Given the description of an element on the screen output the (x, y) to click on. 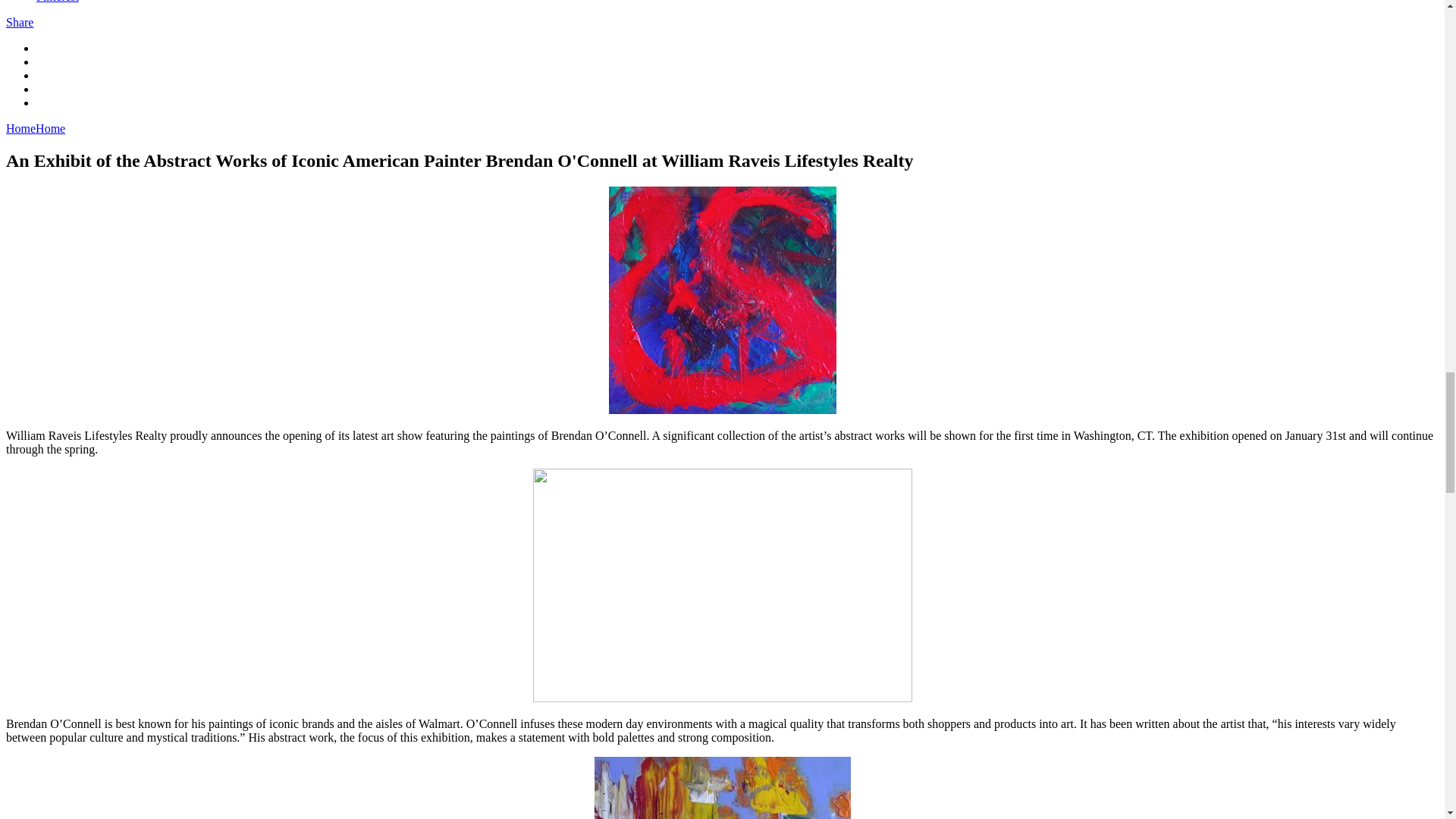
Pinterest (57, 1)
